Given the description of an element on the screen output the (x, y) to click on. 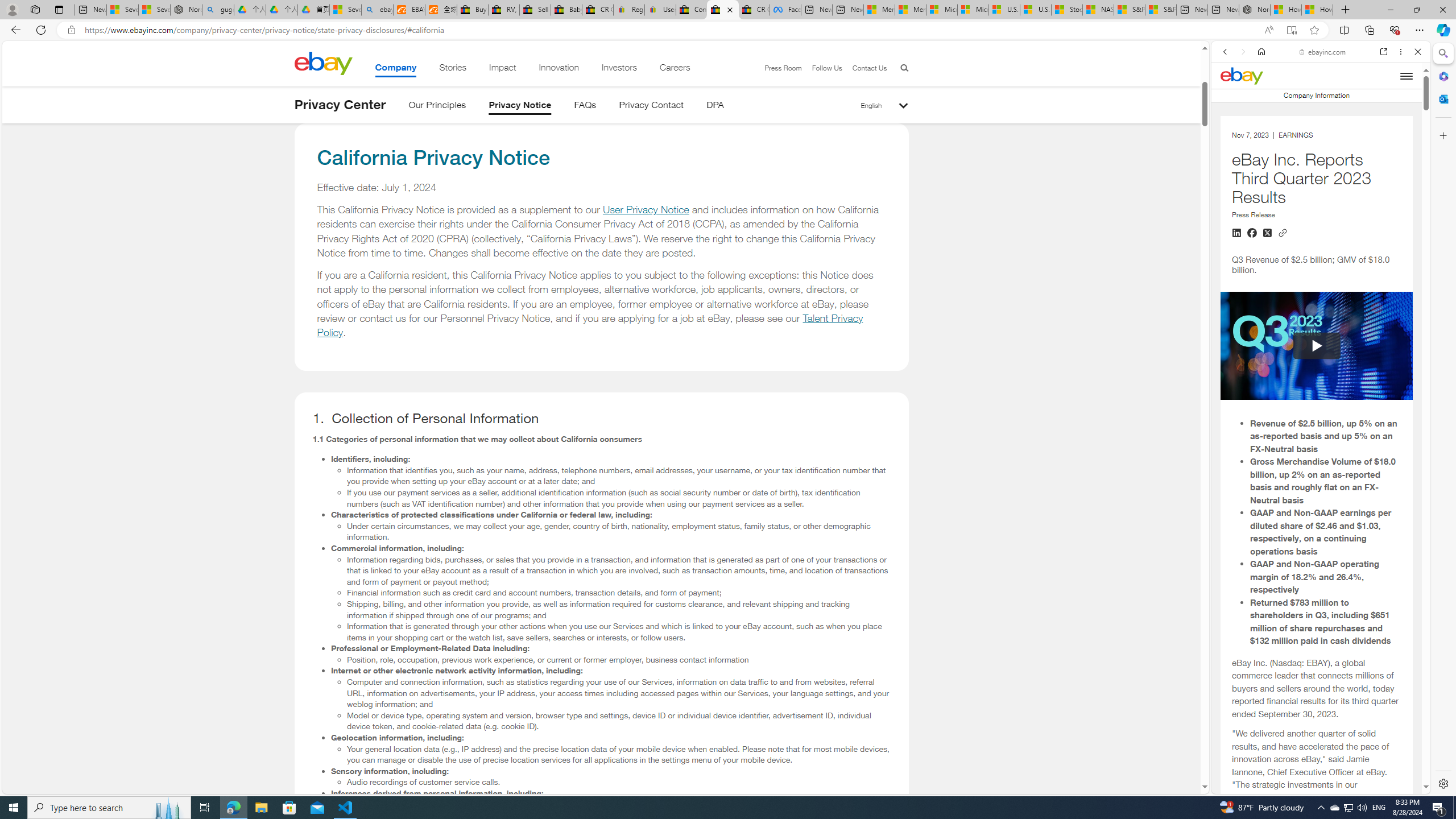
includes meaning (1315, 792)
Talent Privacy Policy (590, 325)
what is another word for including (1315, 742)
eBay Inc. Reports Fourth Quarter and Full Year 2023 Results (1315, 171)
Share on Facebook (1251, 232)
This site scope (1260, 102)
